Given the description of an element on the screen output the (x, y) to click on. 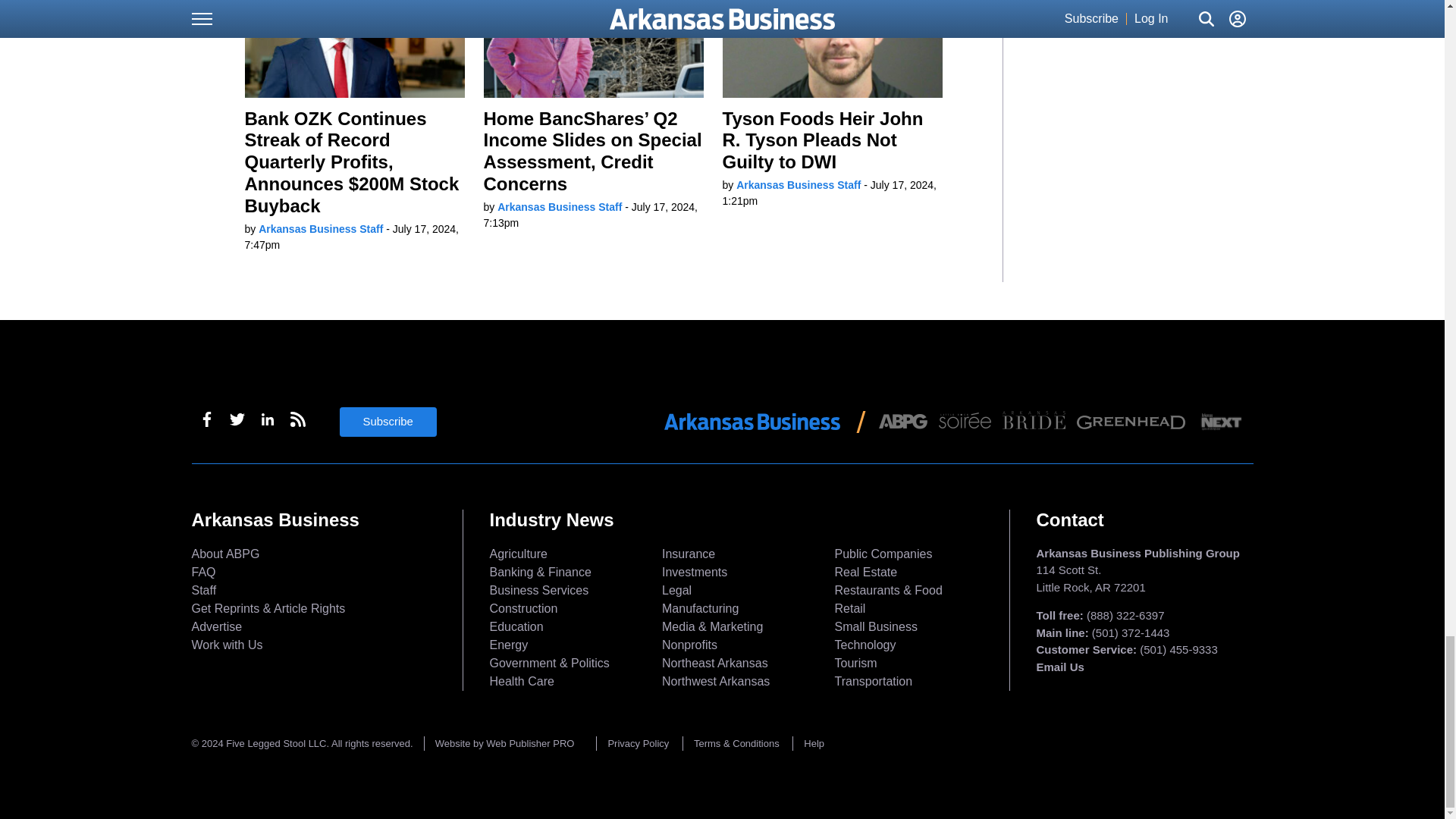
Posts by Arkansas Business Staff (798, 184)
Posts by Arkansas Business Staff (320, 228)
Posts by Arkansas Business Staff (559, 206)
